Given the description of an element on the screen output the (x, y) to click on. 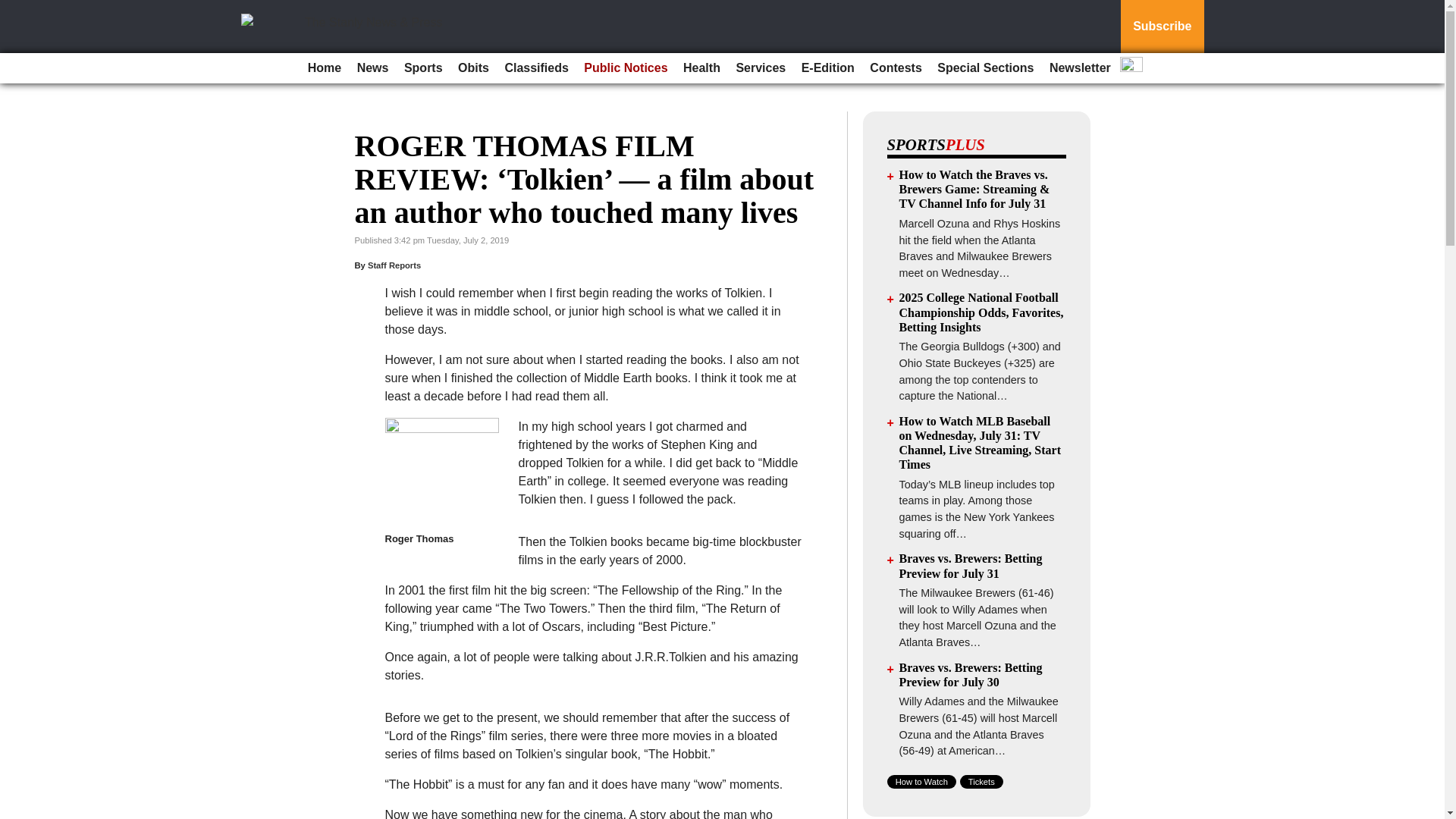
News (372, 68)
Special Sections (985, 68)
Obits (473, 68)
Classifieds (535, 68)
Sports (422, 68)
Services (760, 68)
Subscribe (1162, 26)
Public Notices (625, 68)
Newsletter (1079, 68)
Staff Reports (394, 265)
Home (324, 68)
Contests (895, 68)
Health (701, 68)
E-Edition (827, 68)
Go (13, 9)
